Given the description of an element on the screen output the (x, y) to click on. 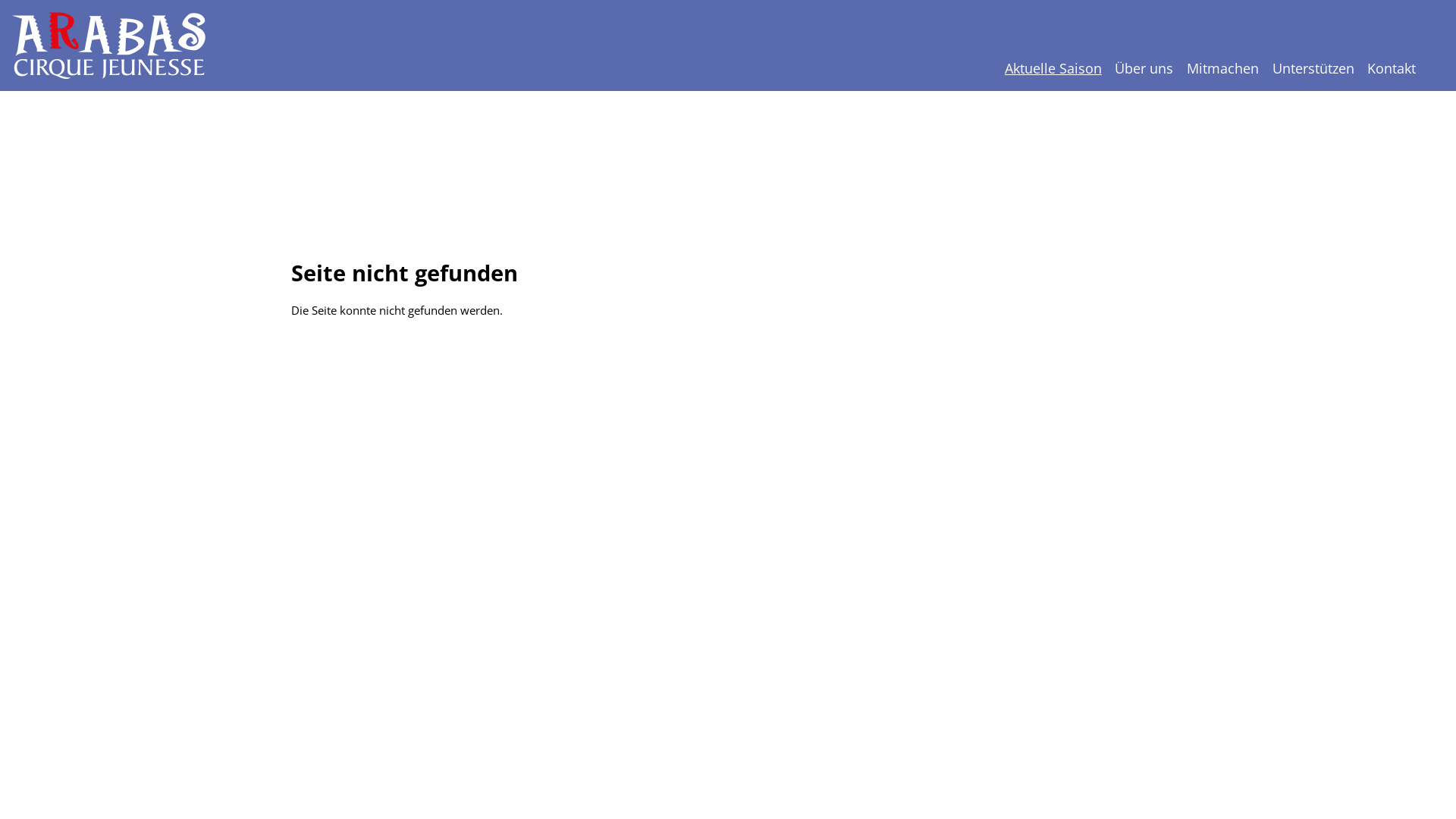
Mitmachen Element type: text (1222, 68)
Kontakt Element type: text (1391, 68)
Aktuelle Saison Element type: text (1052, 68)
